Given the description of an element on the screen output the (x, y) to click on. 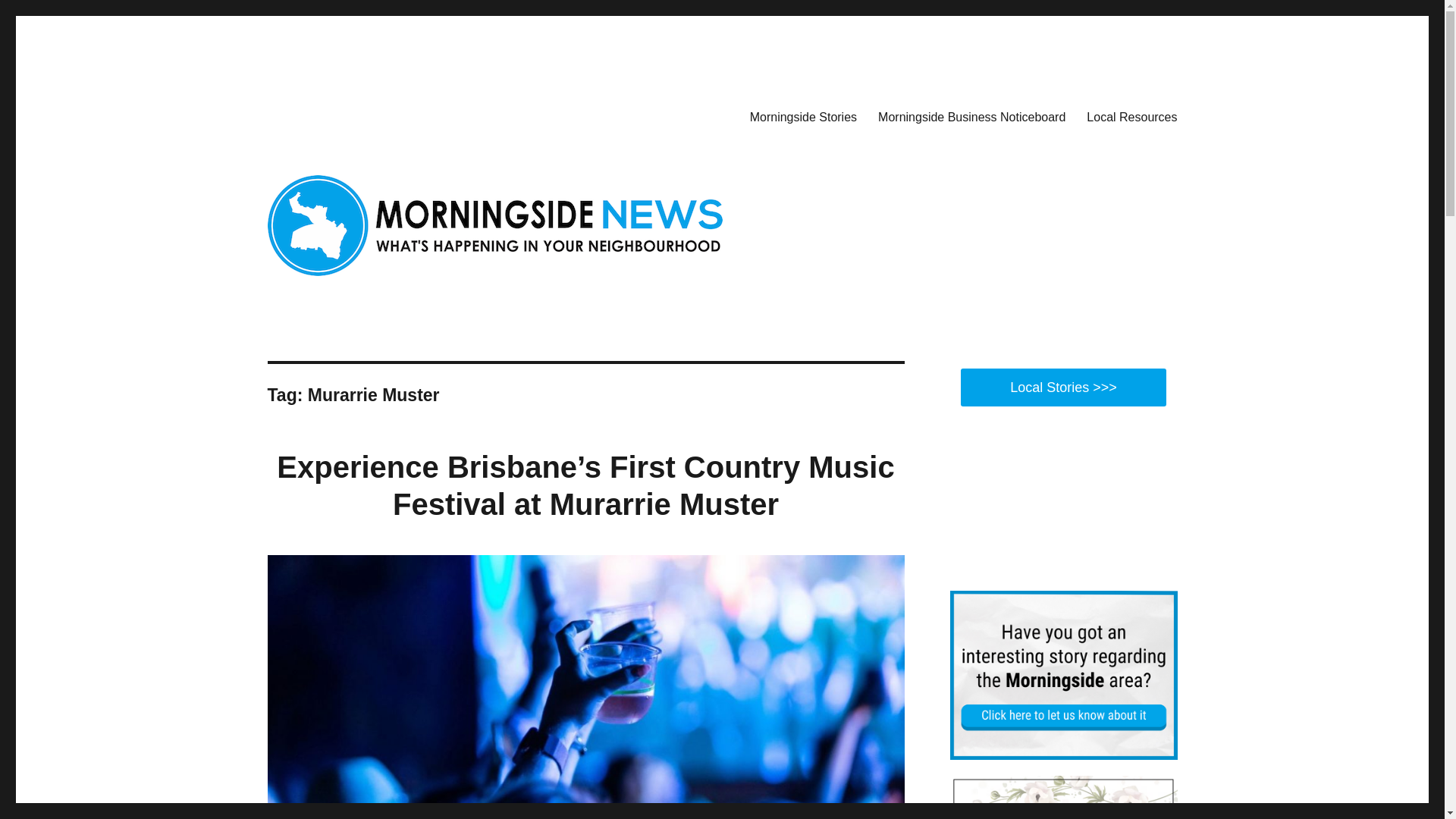
Morningside News (360, 114)
Local Resources (1131, 116)
Morningside Stories (803, 116)
Morningside Business Noticeboard (971, 116)
